Given the description of an element on the screen output the (x, y) to click on. 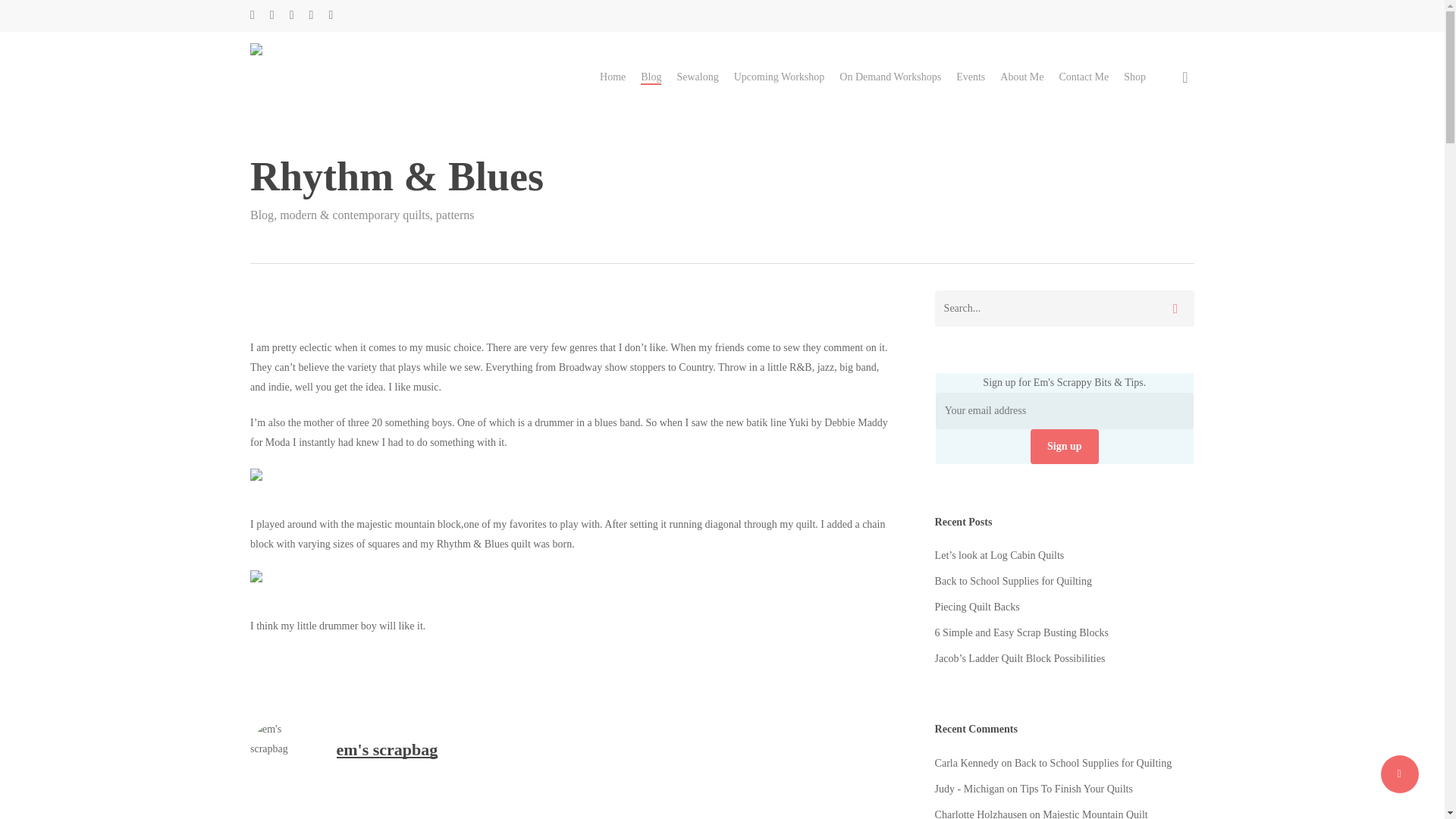
Blog (650, 77)
About Me (1021, 77)
Piecing Quilt Backs (1063, 607)
patterns (454, 214)
On Demand Workshops (890, 77)
Back to School Supplies for Quilting (1063, 581)
Contact Me (1083, 77)
Sewalong (697, 77)
Majestic Mountain Quilt Possibilities (1041, 814)
Events (970, 77)
